Given the description of an element on the screen output the (x, y) to click on. 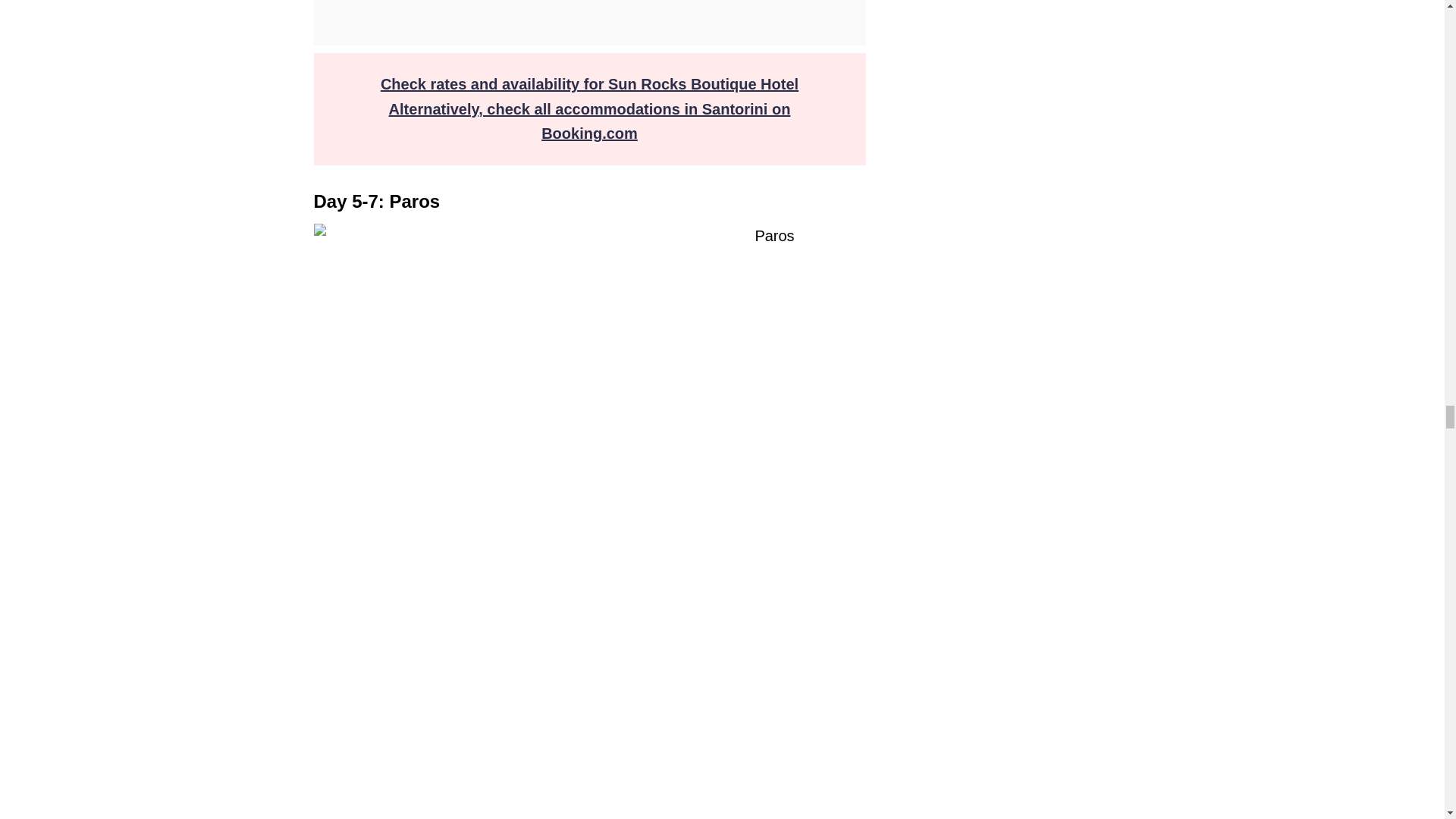
Check rates and availability for Sun Rocks Boutique Hotel (588, 84)
